Given the description of an element on the screen output the (x, y) to click on. 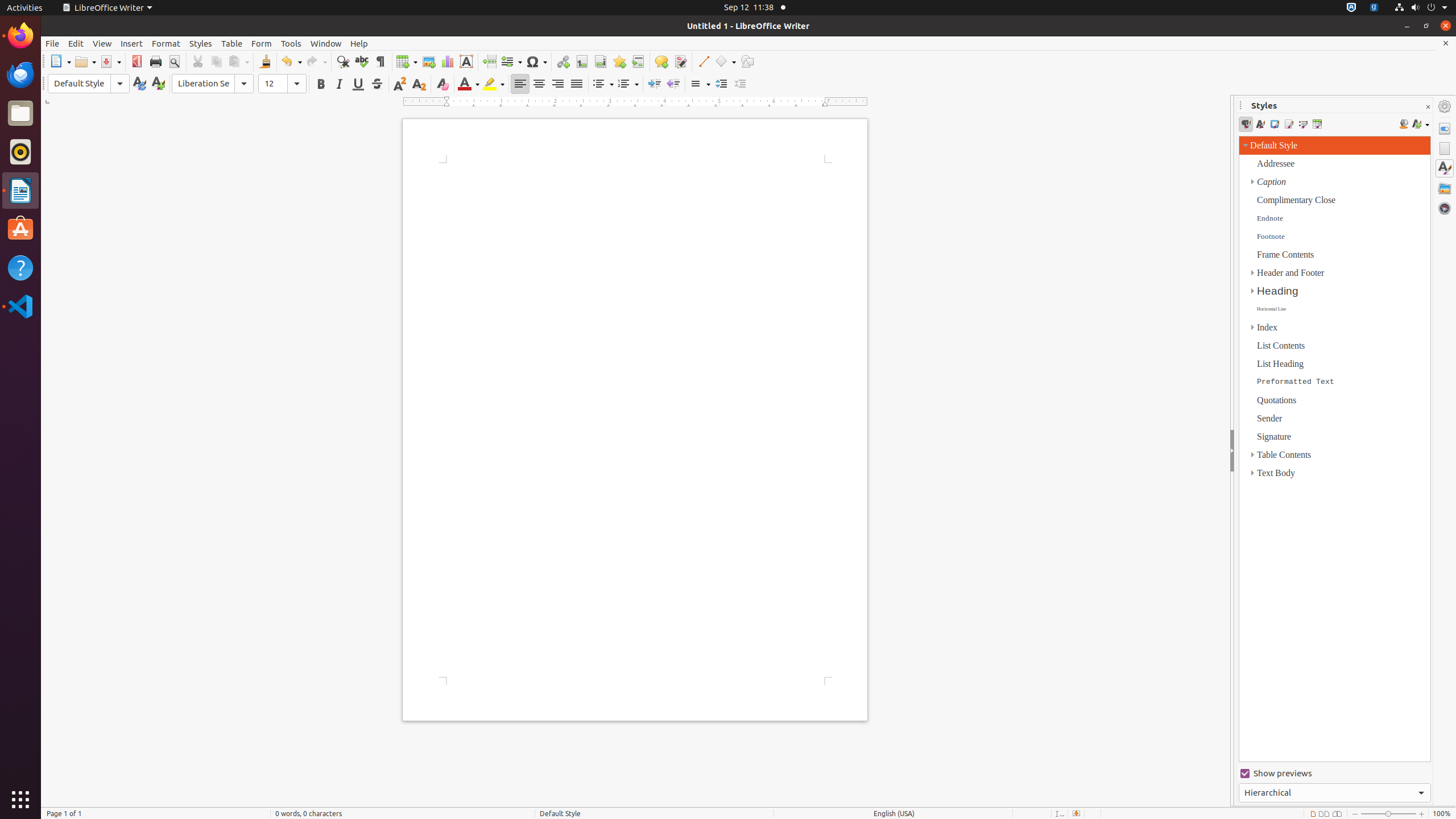
Frame Styles Element type: push-button (1274, 123)
Formatting Marks Element type: toggle-button (379, 61)
Numbering Element type: push-button (627, 83)
Cut Element type: push-button (197, 61)
Increase Element type: push-button (721, 83)
